Given the description of an element on the screen output the (x, y) to click on. 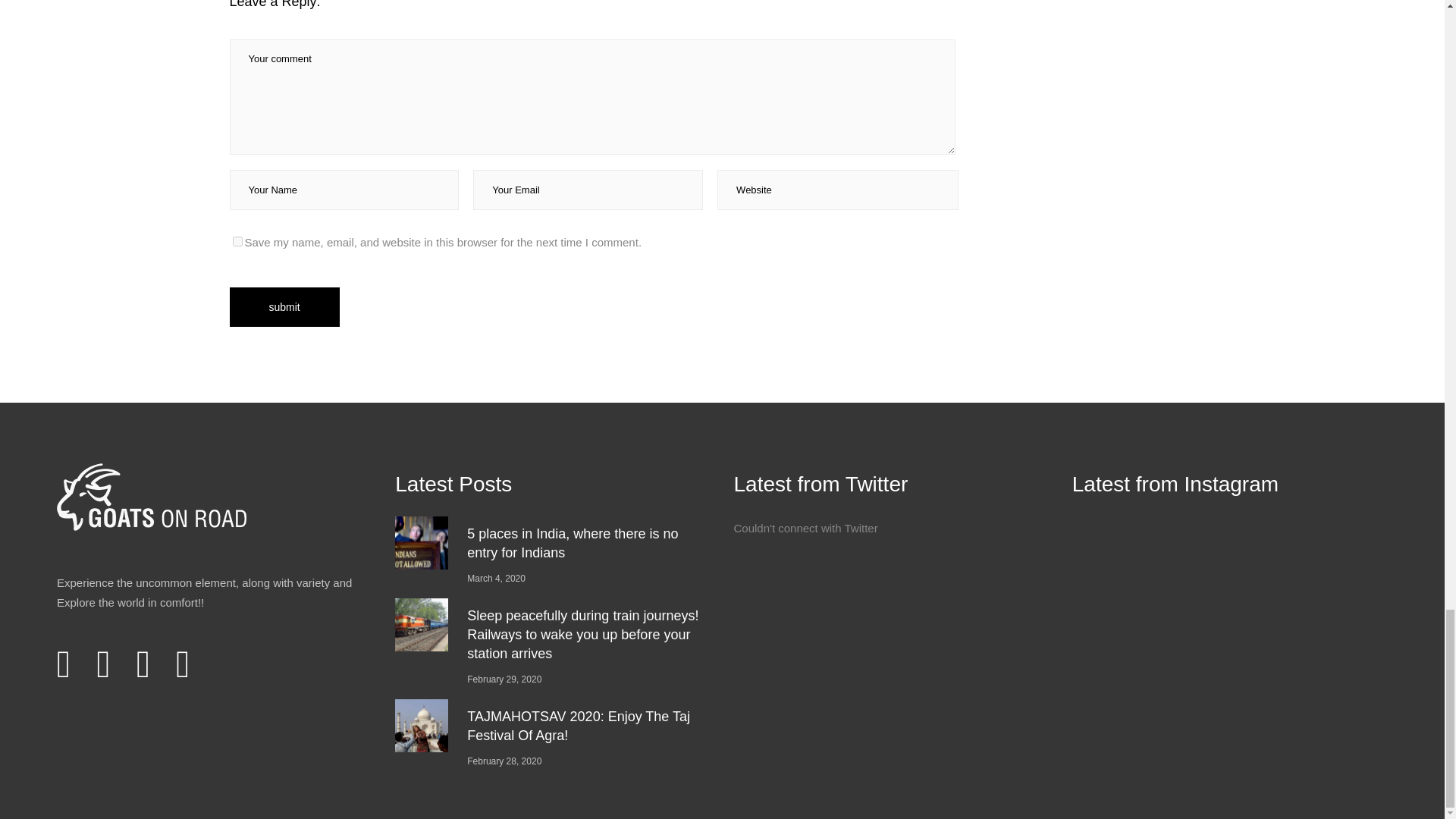
yes (236, 241)
Submit (283, 306)
